Given the description of an element on the screen output the (x, y) to click on. 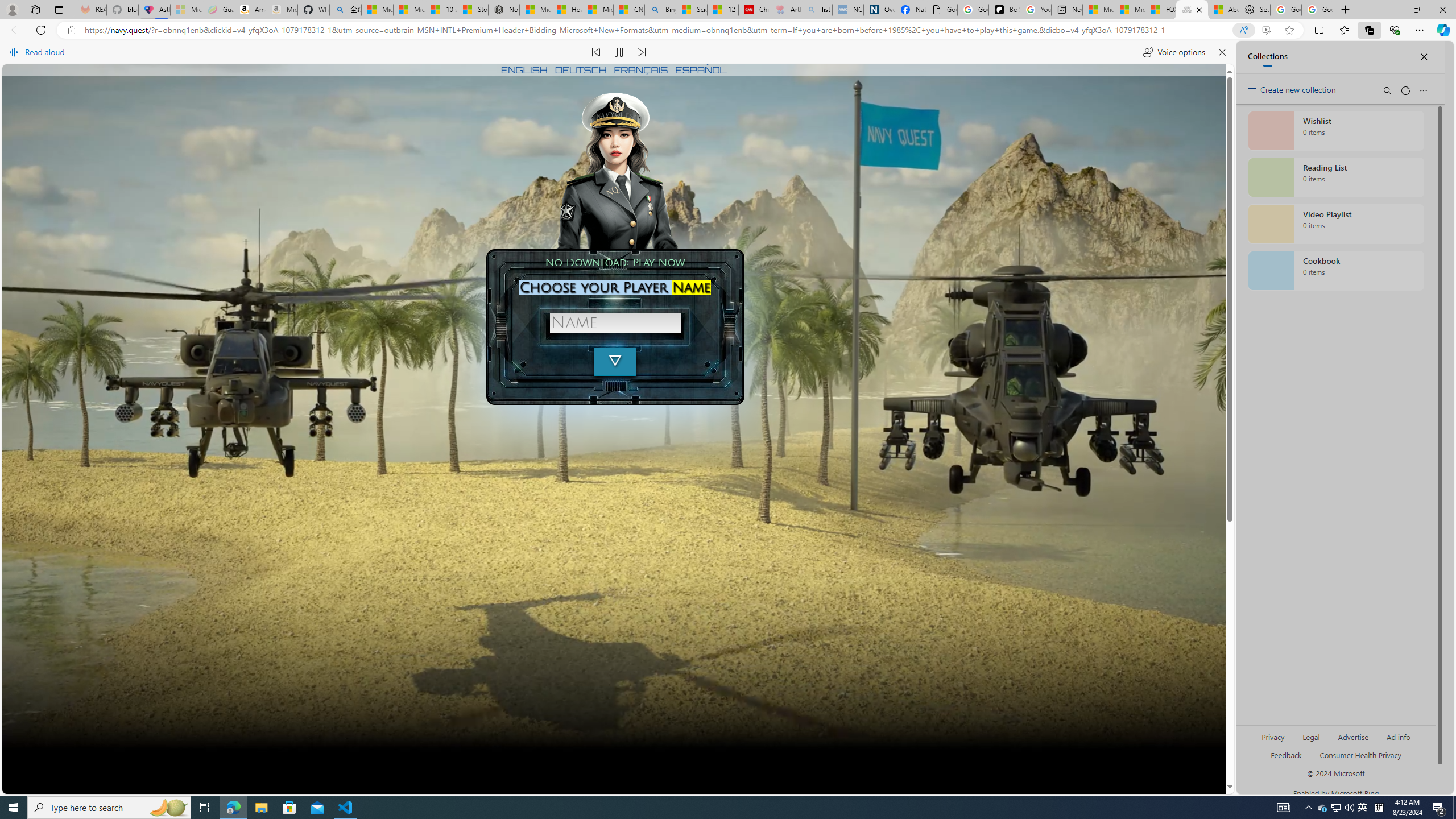
NCL Adult Asthma Inhaler Choice Guideline - Sleeping (847, 9)
FOX News - MSN (1160, 9)
New Tab (1346, 9)
New tab (1066, 9)
Close (1442, 9)
AutomationID: genId96 (1285, 759)
Asthma Inhalers: Names and Types (153, 9)
Settings (1254, 9)
